Given the description of an element on the screen output the (x, y) to click on. 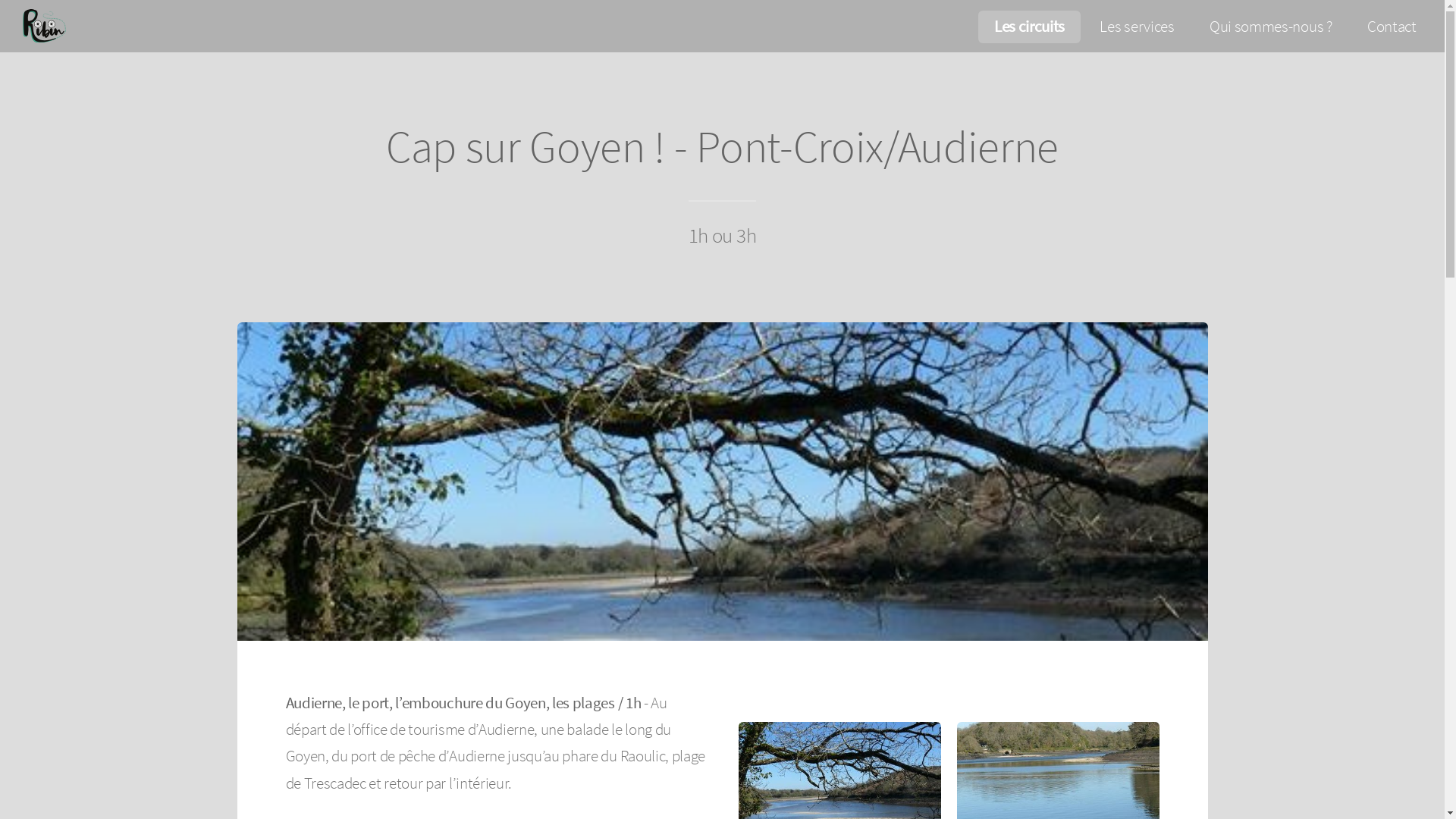
Contact Element type: text (1391, 26)
Les circuits Element type: text (1029, 26)
Qui sommes-nous ? Element type: text (1270, 26)
Les services Element type: text (1136, 26)
